Given the description of an element on the screen output the (x, y) to click on. 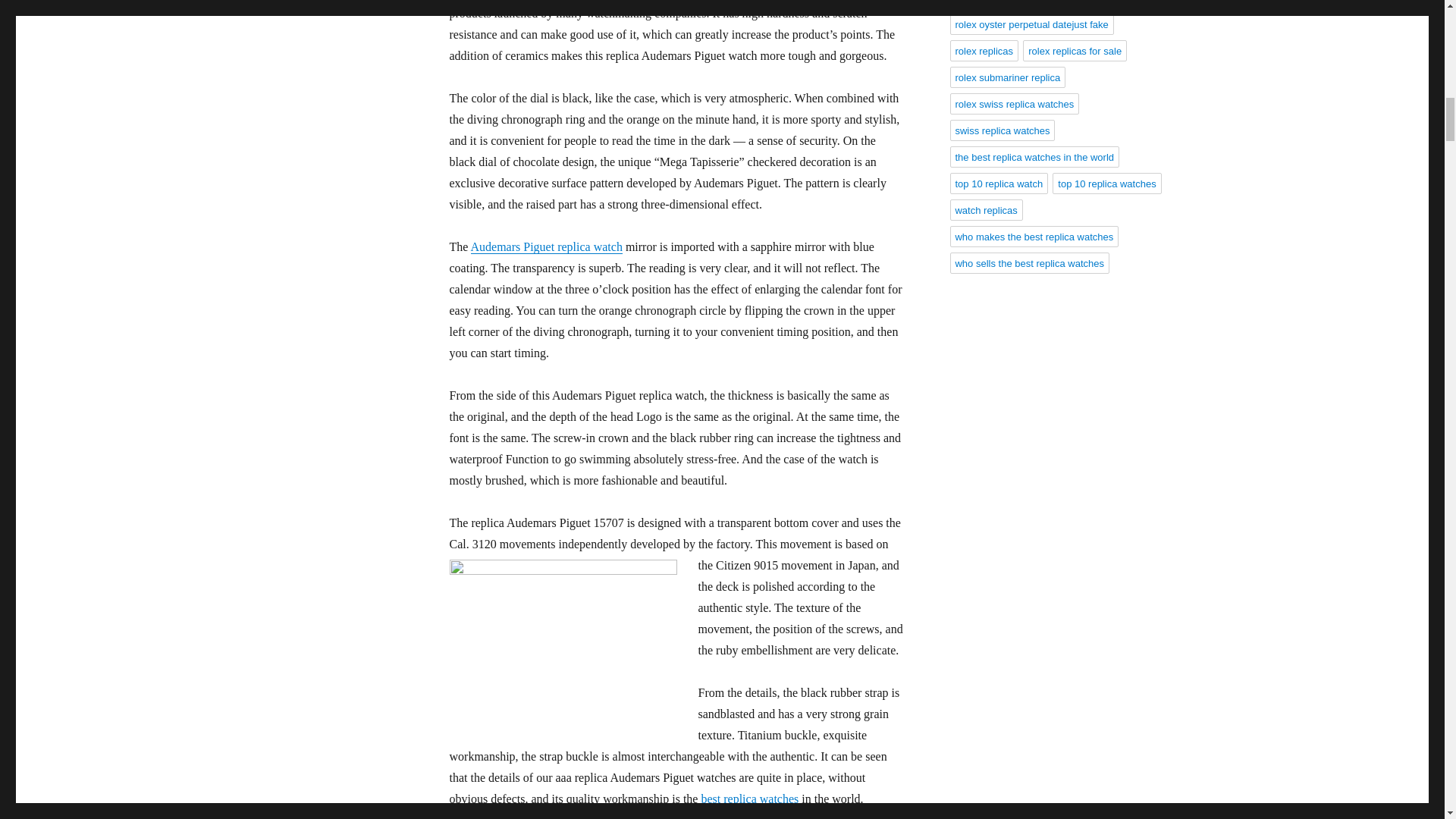
best replica watches (748, 798)
Audemars Piguet replica watch (545, 246)
